Given the description of an element on the screen output the (x, y) to click on. 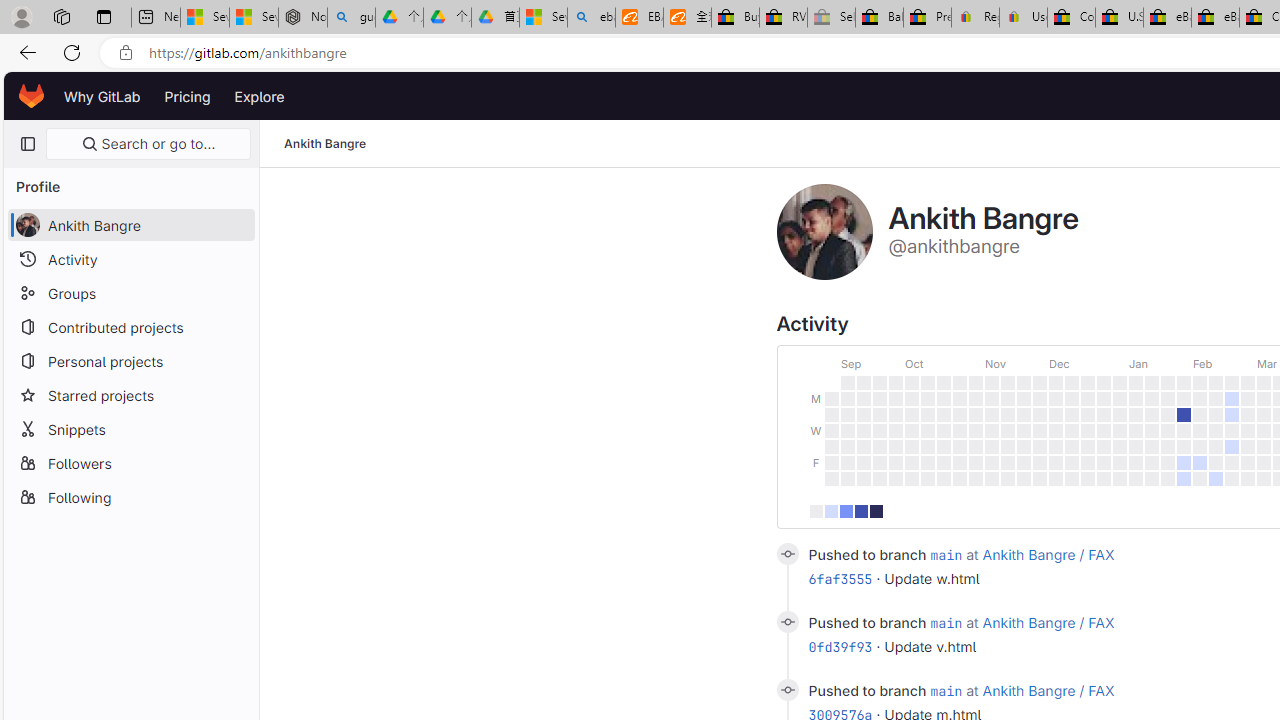
30+ contributions (876, 510)
main (946, 690)
